Given the description of an element on the screen output the (x, y) to click on. 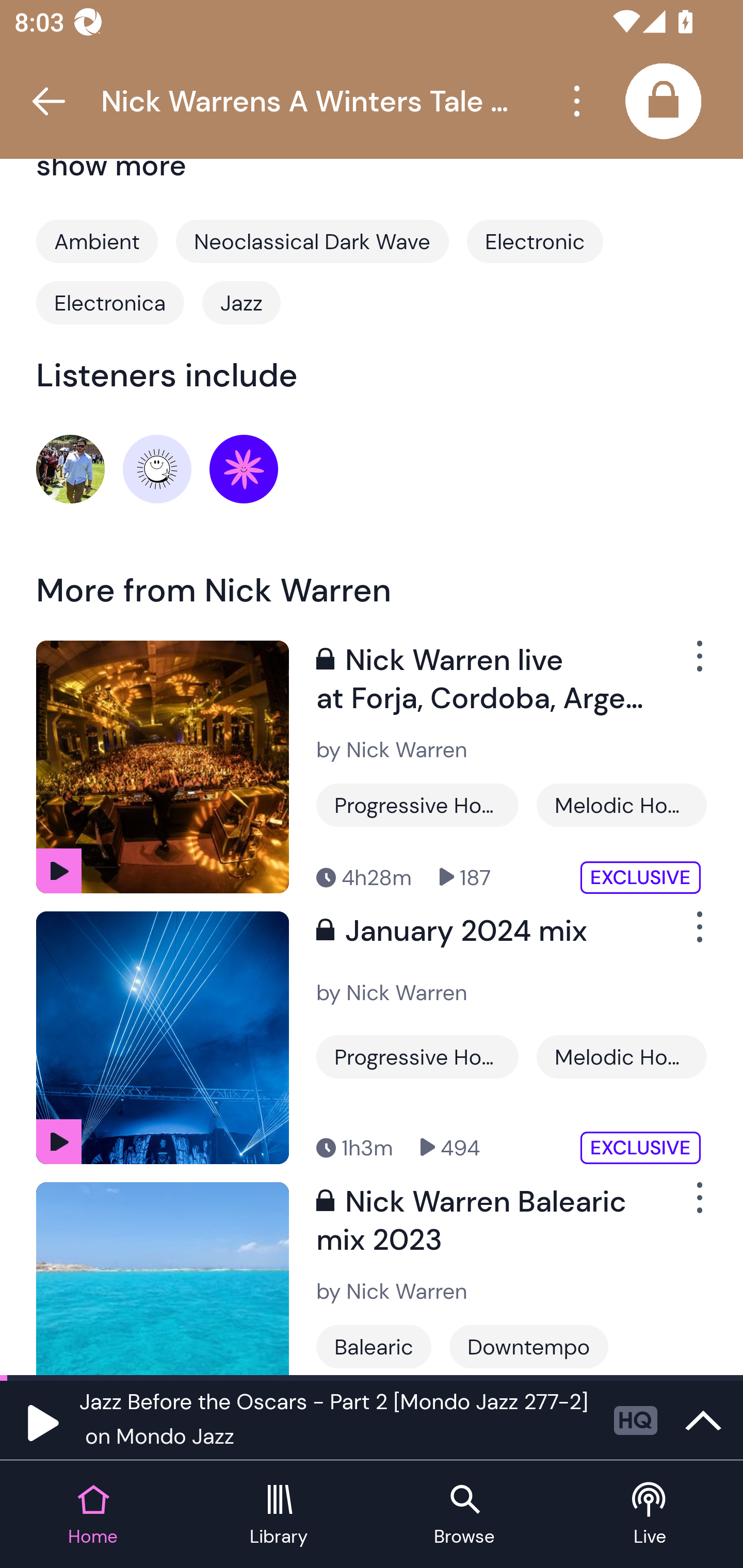
Ambient (96, 241)
Neoclassical Dark Wave (312, 241)
Electronic (534, 241)
Electronica (110, 302)
Jazz (241, 302)
Show Options Menu Button (688, 663)
Progressive House (417, 805)
Melodic House (621, 805)
Show Options Menu Button (688, 934)
Progressive House (417, 1056)
Melodic House (621, 1056)
Show Options Menu Button (688, 1205)
Balearic (373, 1346)
Downtempo (528, 1346)
Home tab Home (92, 1515)
Library tab Library (278, 1515)
Browse tab Browse (464, 1515)
Live tab Live (650, 1515)
